Given the description of an element on the screen output the (x, y) to click on. 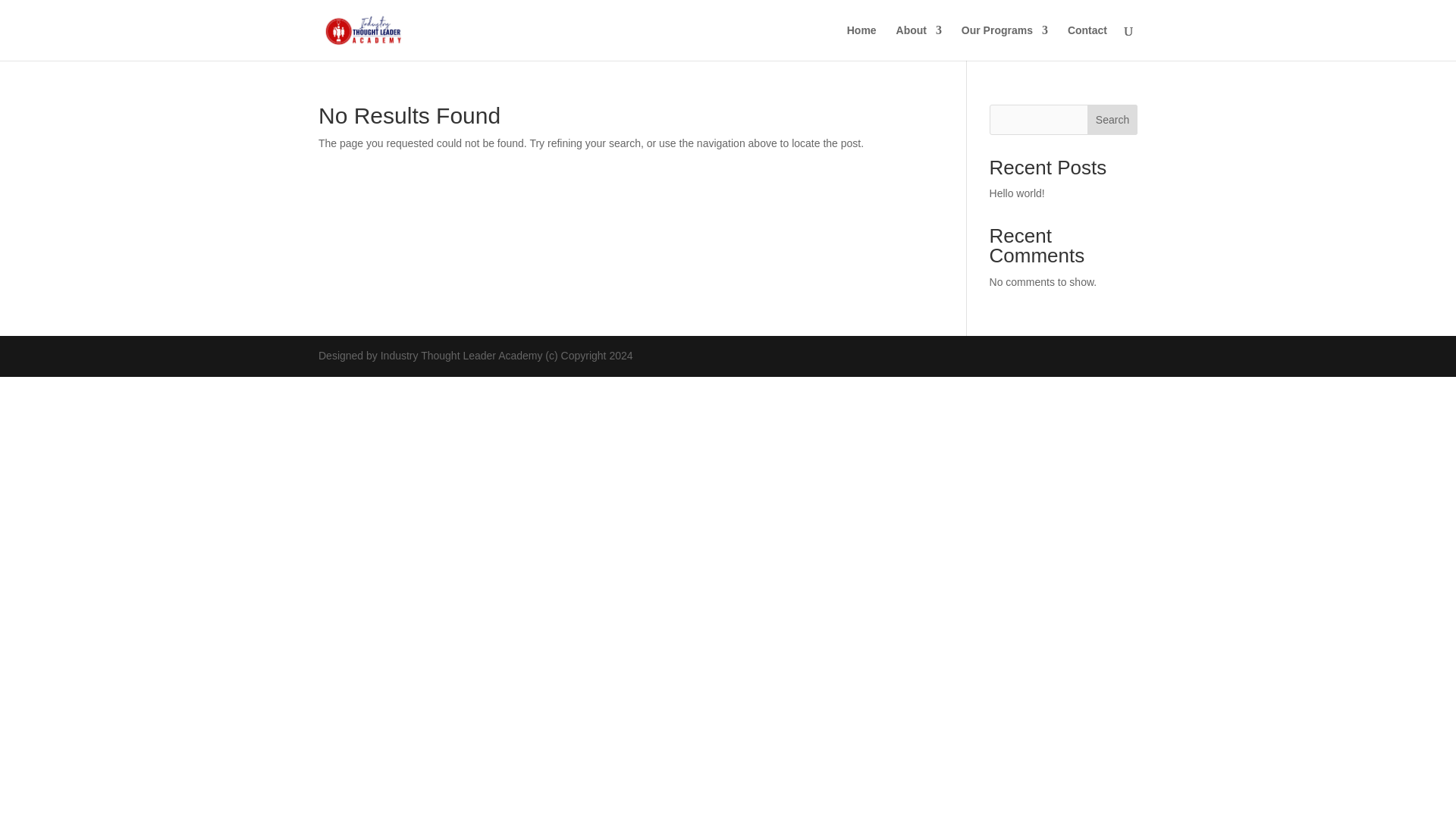
About (919, 42)
Contact (1086, 42)
Our Programs (1004, 42)
Search (1112, 119)
Hello world! (1017, 193)
